Given the description of an element on the screen output the (x, y) to click on. 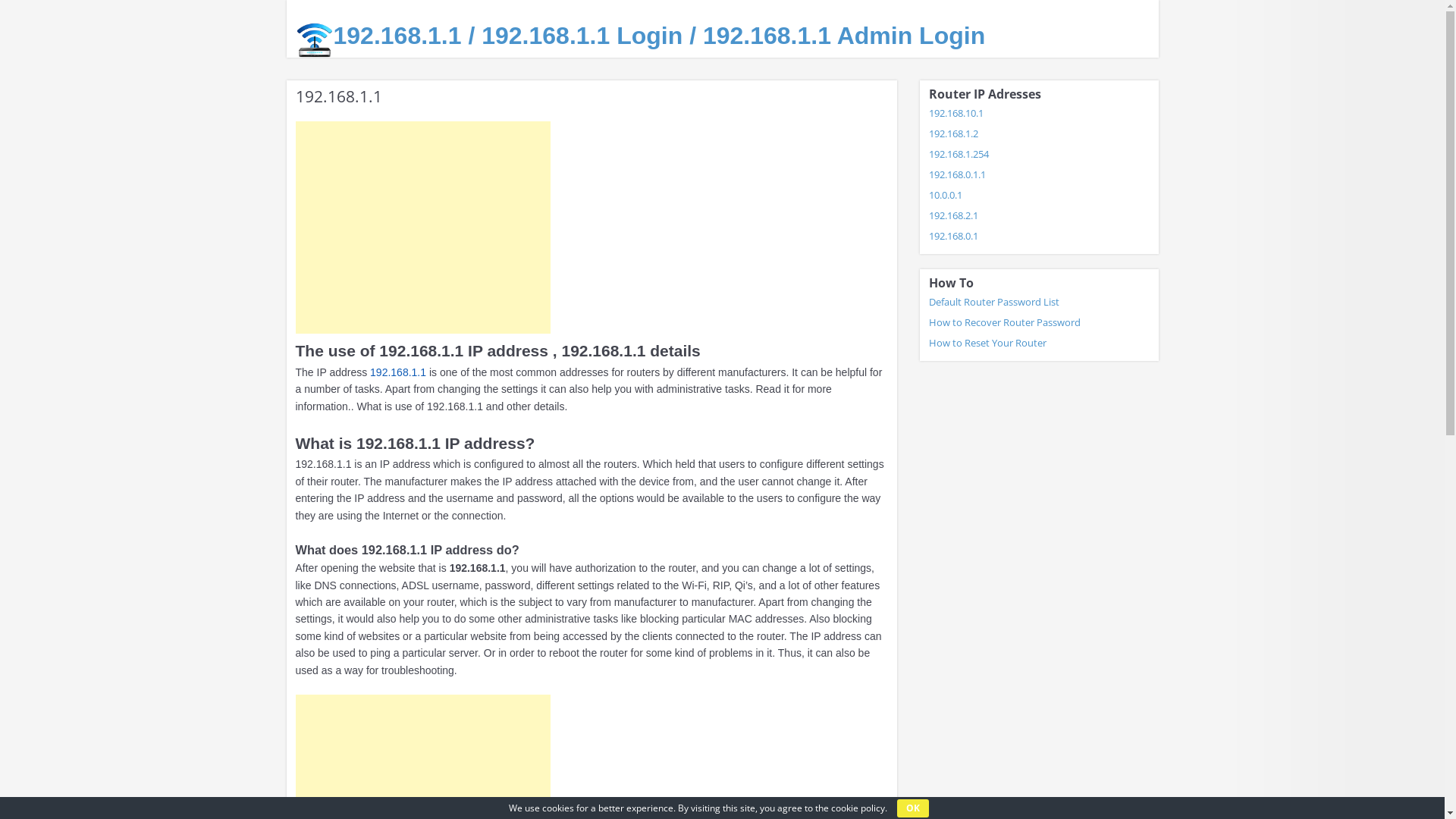
192.168.2.1 Element type: text (952, 215)
192.168.10.1 Element type: text (955, 112)
How to Reset Your Router Element type: text (986, 342)
192.168.1.2 Element type: text (952, 133)
192.168.1.1 Element type: text (398, 372)
192.168.0.1.1 Element type: text (956, 174)
OK Element type: text (912, 808)
10.0.0.1 Element type: text (944, 194)
192.168.0.1 Element type: text (952, 235)
Advertisement Element type: hover (422, 227)
192.168.1.1 / 192.168.1.1 Login / 192.168.1.1 Admin Login Element type: text (659, 35)
How to Recover Router Password Element type: text (1003, 322)
192.168.1.254 Element type: text (958, 153)
Default Router Password List Element type: text (993, 301)
